Given the description of an element on the screen output the (x, y) to click on. 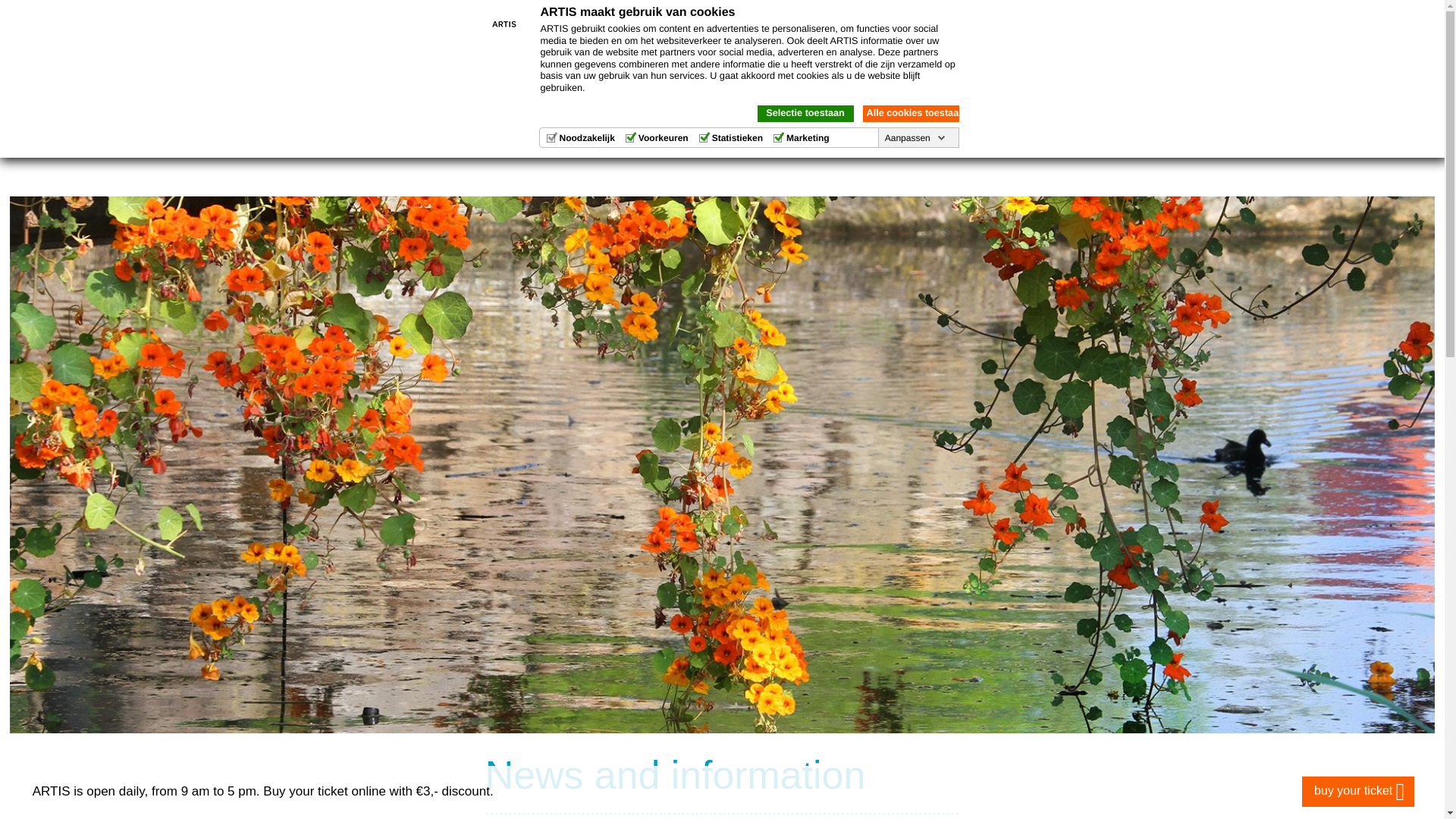
Alle cookies toestaan (911, 113)
Selectie toestaan (805, 113)
Aanpassen (915, 137)
